Given the description of an element on the screen output the (x, y) to click on. 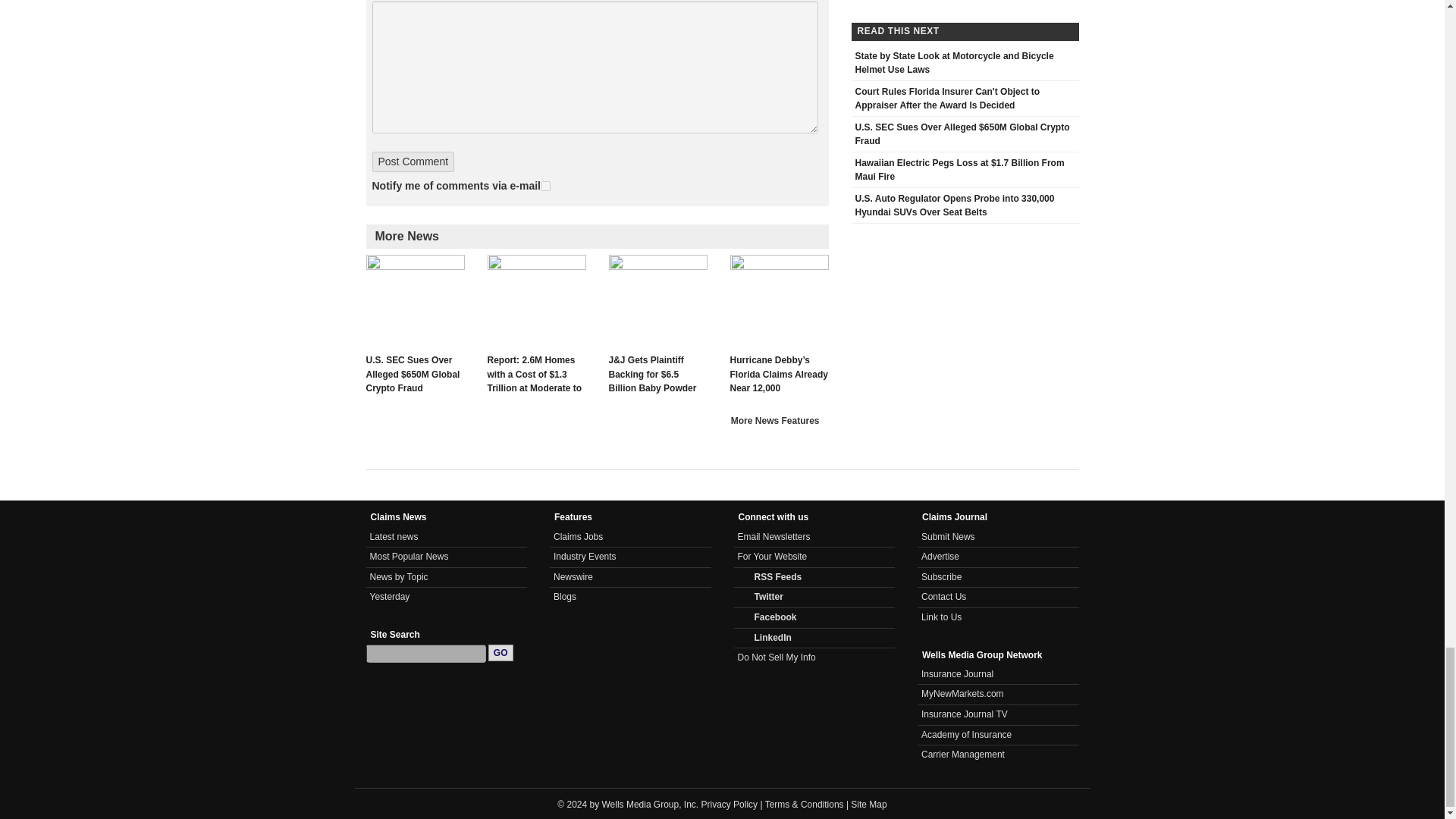
Go (500, 652)
Post Comment (412, 161)
Insurance News by Topic (398, 576)
yes (545, 185)
Insurance Market Search Engine (962, 693)
